Given the description of an element on the screen output the (x, y) to click on. 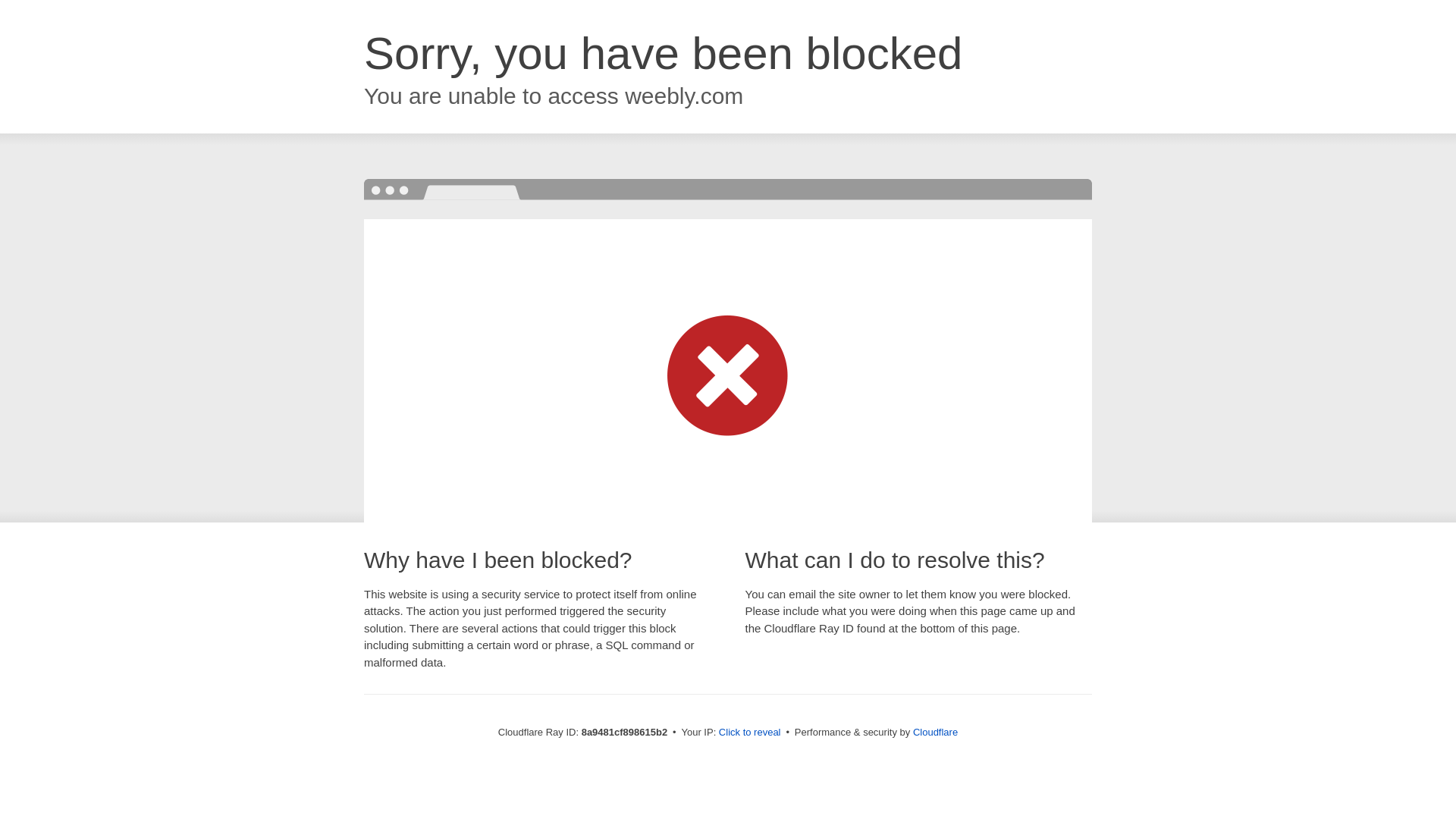
Cloudflare (935, 731)
Click to reveal (749, 732)
